Given the description of an element on the screen output the (x, y) to click on. 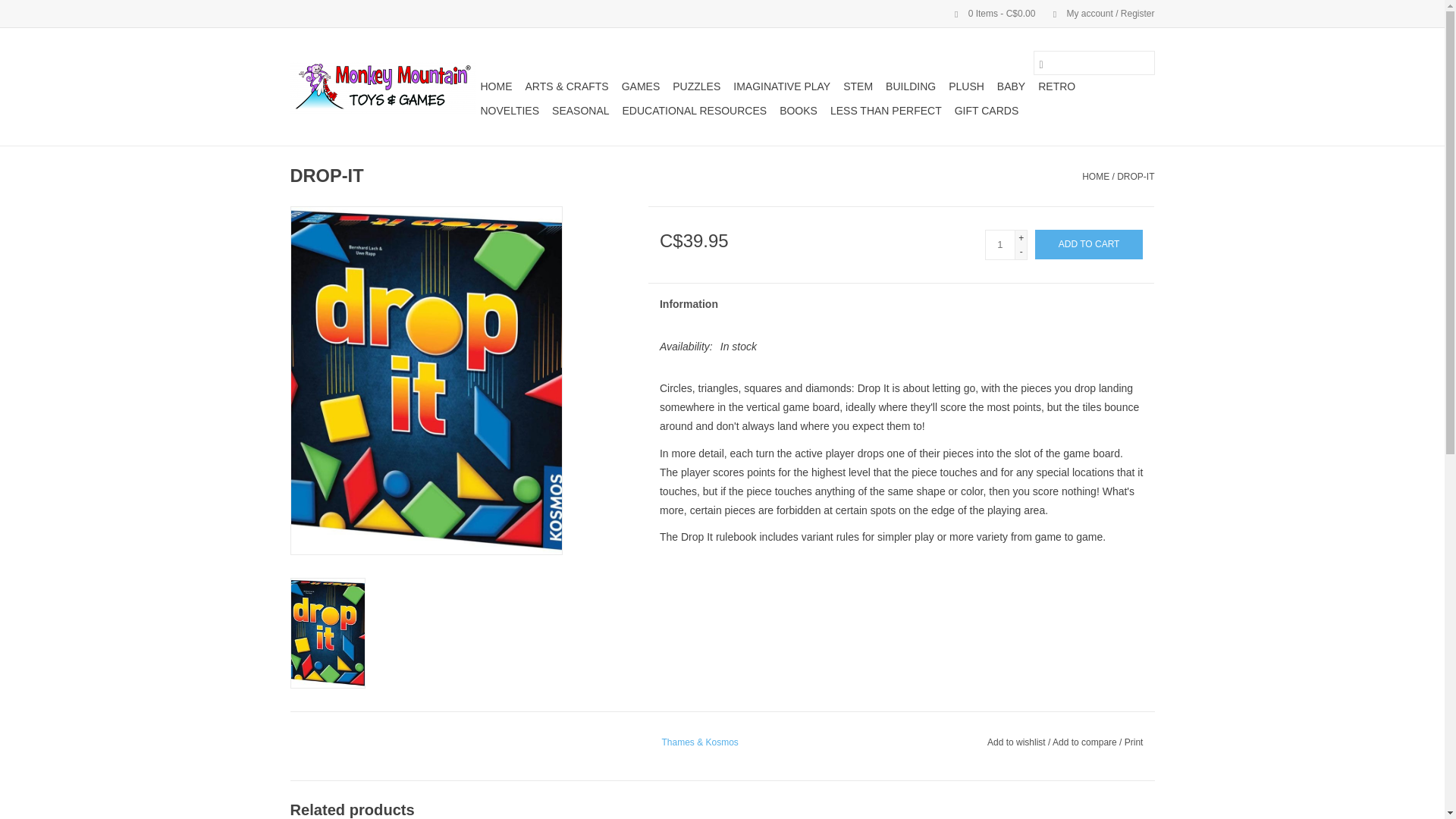
PUZZLES (696, 86)
1 (999, 245)
GAMES (641, 86)
HOME (496, 86)
Games (641, 86)
Search (1040, 62)
Cart (988, 13)
My account (1096, 13)
